Given the description of an element on the screen output the (x, y) to click on. 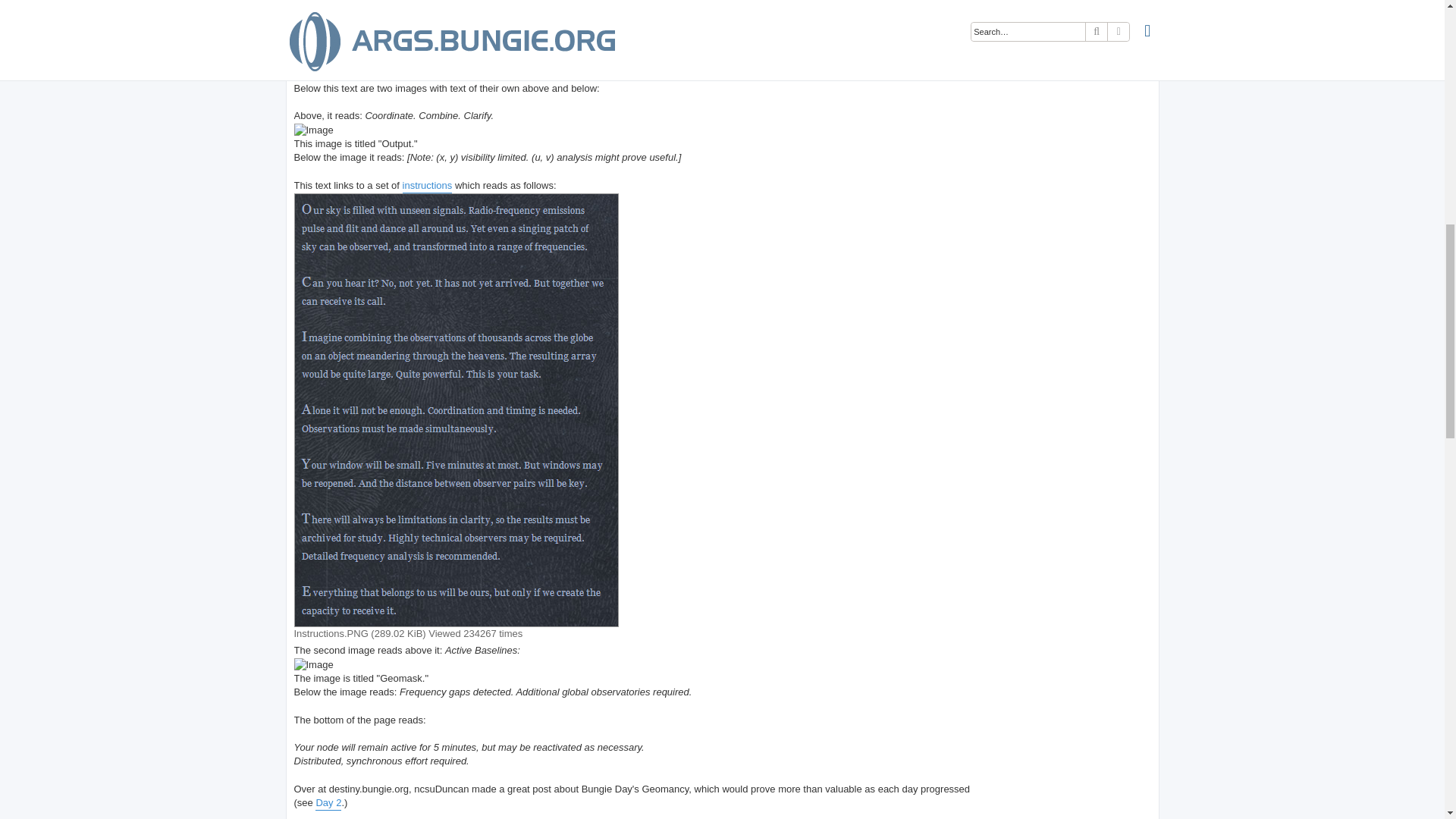
instructions (427, 186)
Day 2 (327, 803)
